Given the description of an element on the screen output the (x, y) to click on. 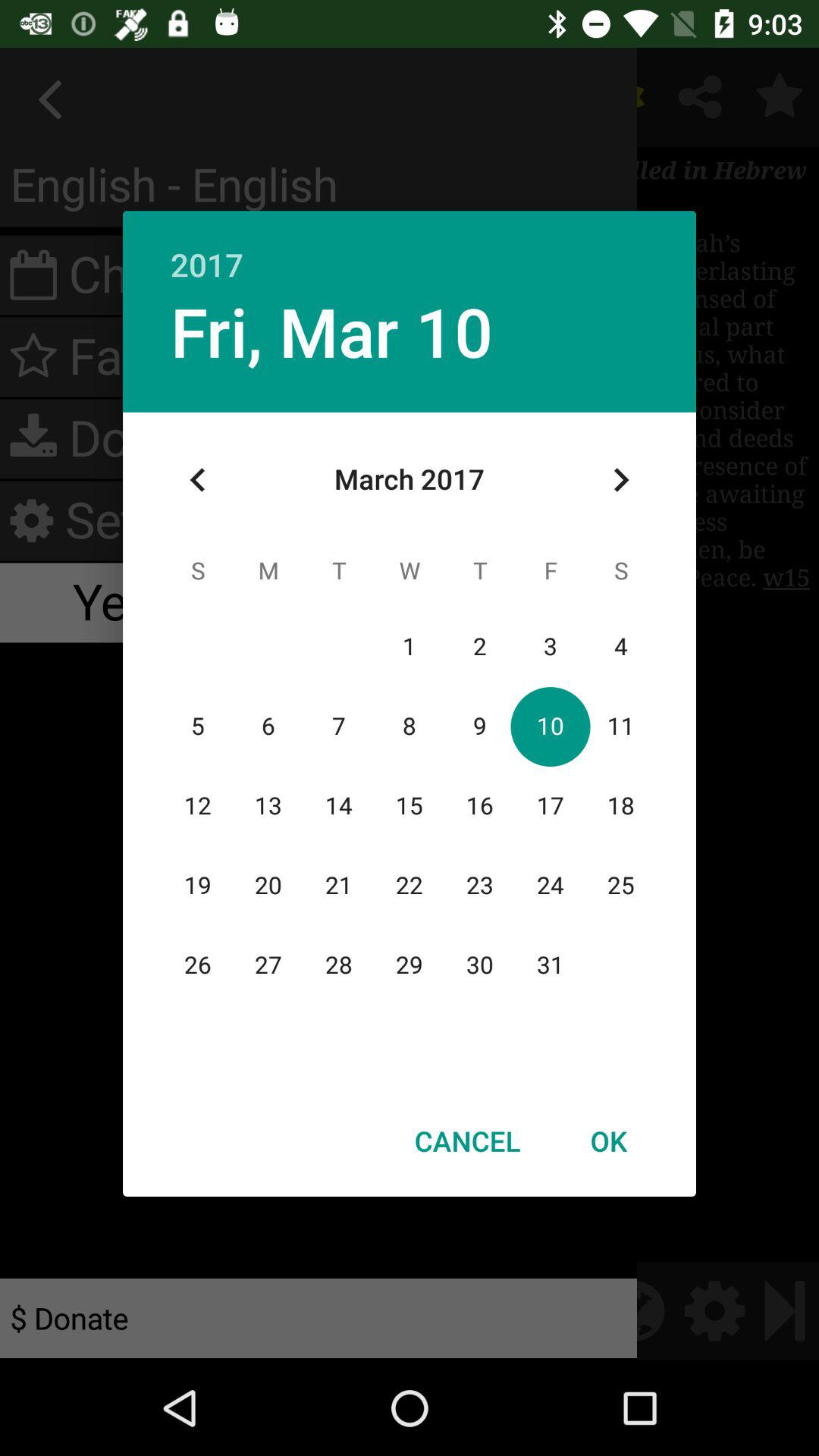
tap icon next to the cancel icon (608, 1140)
